Given the description of an element on the screen output the (x, y) to click on. 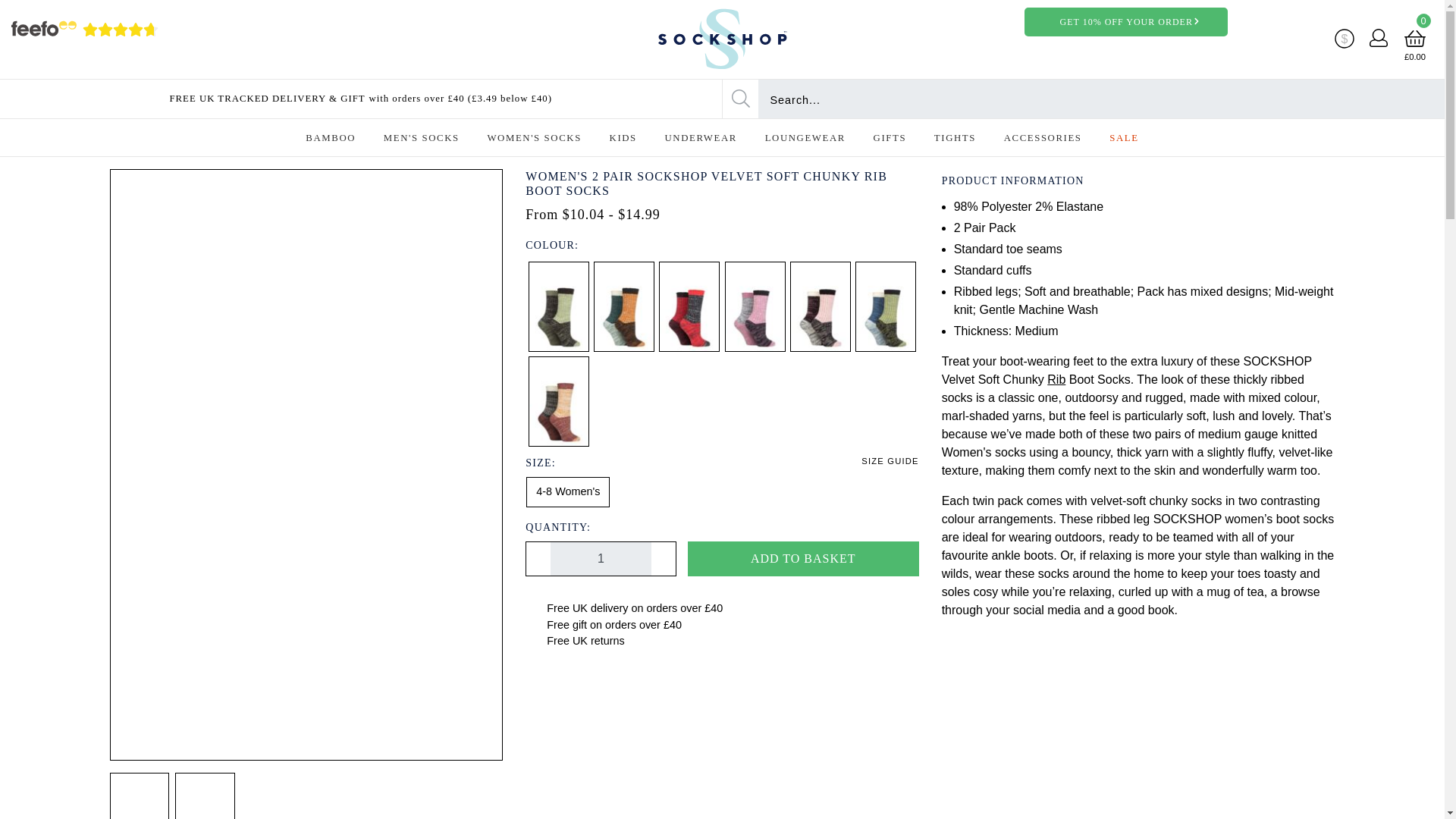
SIZE GUIDE (889, 461)
1 (600, 558)
BAMBOO (330, 137)
SOCKSHOP (721, 39)
